Given the description of an element on the screen output the (x, y) to click on. 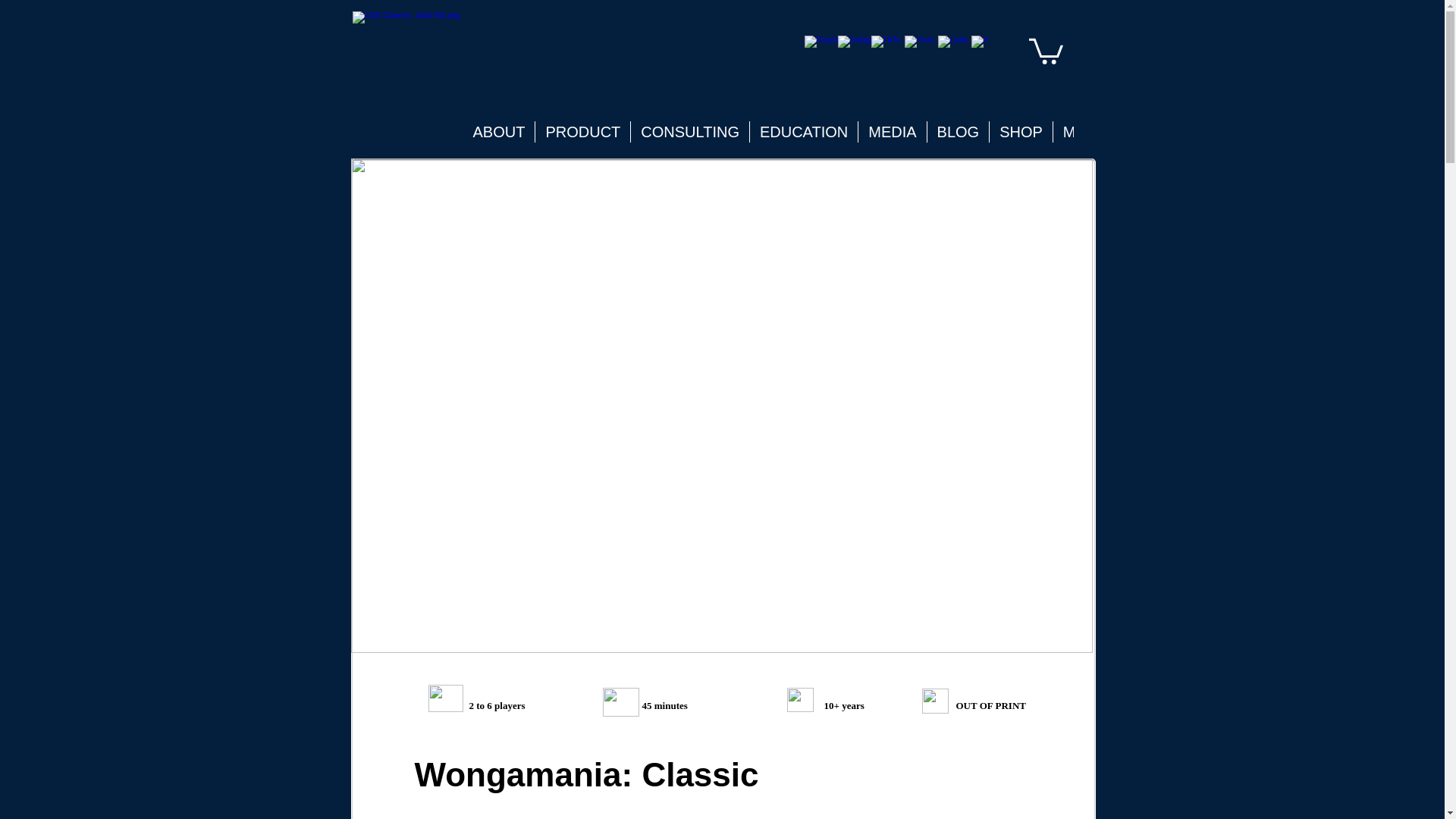
MEDIA (891, 132)
CONSULTING (689, 132)
PRODUCT (582, 132)
EDUCATION (803, 132)
BLOG (958, 132)
SHOP (1020, 132)
